Given the description of an element on the screen output the (x, y) to click on. 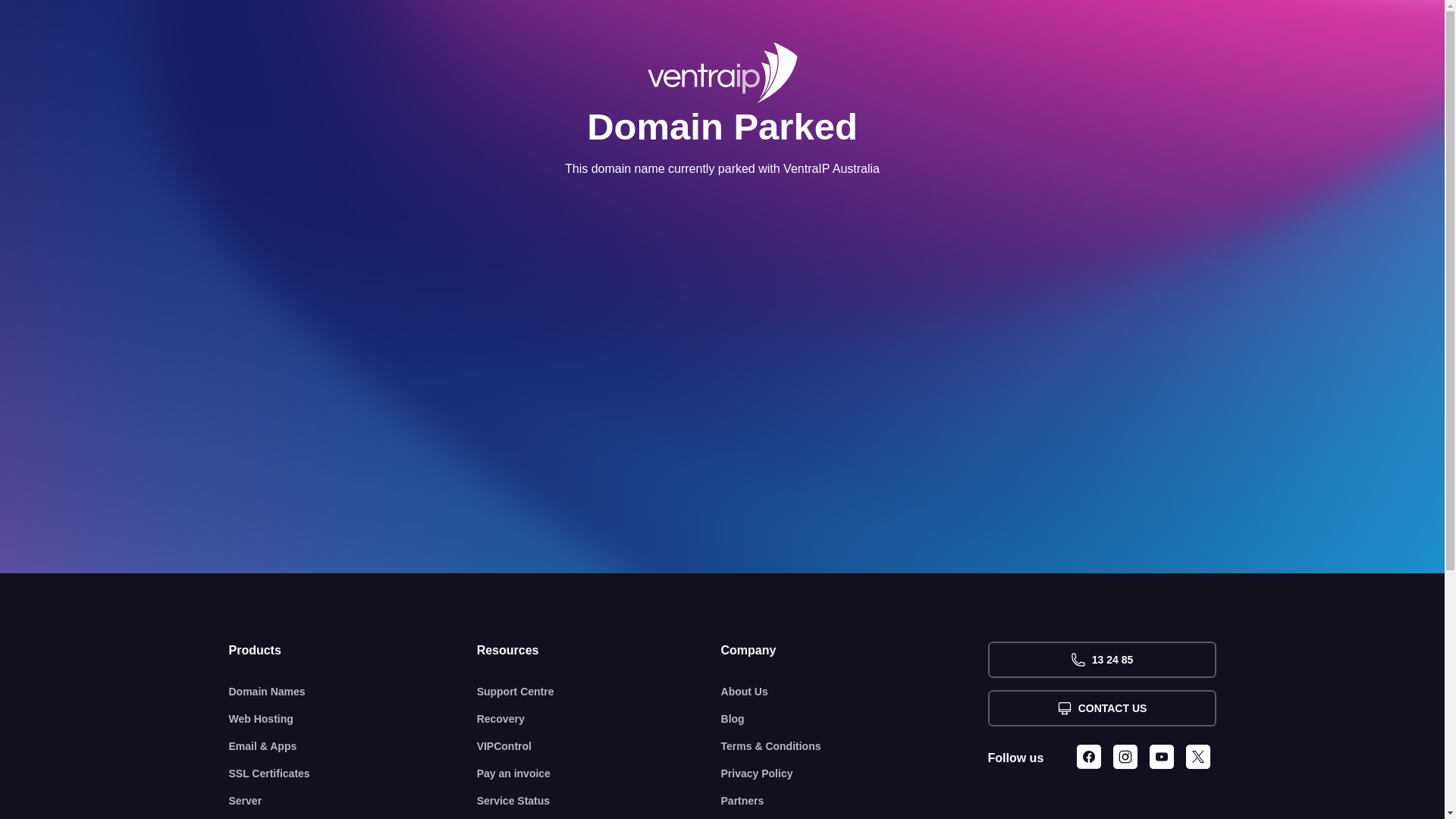
Terms & Conditions Element type: text (854, 745)
Partners Element type: text (854, 800)
CONTACT US Element type: text (1101, 708)
Pay an invoice Element type: text (598, 773)
Email & Apps Element type: text (352, 745)
Privacy Policy Element type: text (854, 773)
13 24 85 Element type: text (1101, 659)
Recovery Element type: text (598, 718)
VIPControl Element type: text (598, 745)
Blog Element type: text (854, 718)
Support Centre Element type: text (598, 691)
SSL Certificates Element type: text (352, 773)
About Us Element type: text (854, 691)
Domain Names Element type: text (352, 691)
Server Element type: text (352, 800)
Service Status Element type: text (598, 800)
Web Hosting Element type: text (352, 718)
